Given the description of an element on the screen output the (x, y) to click on. 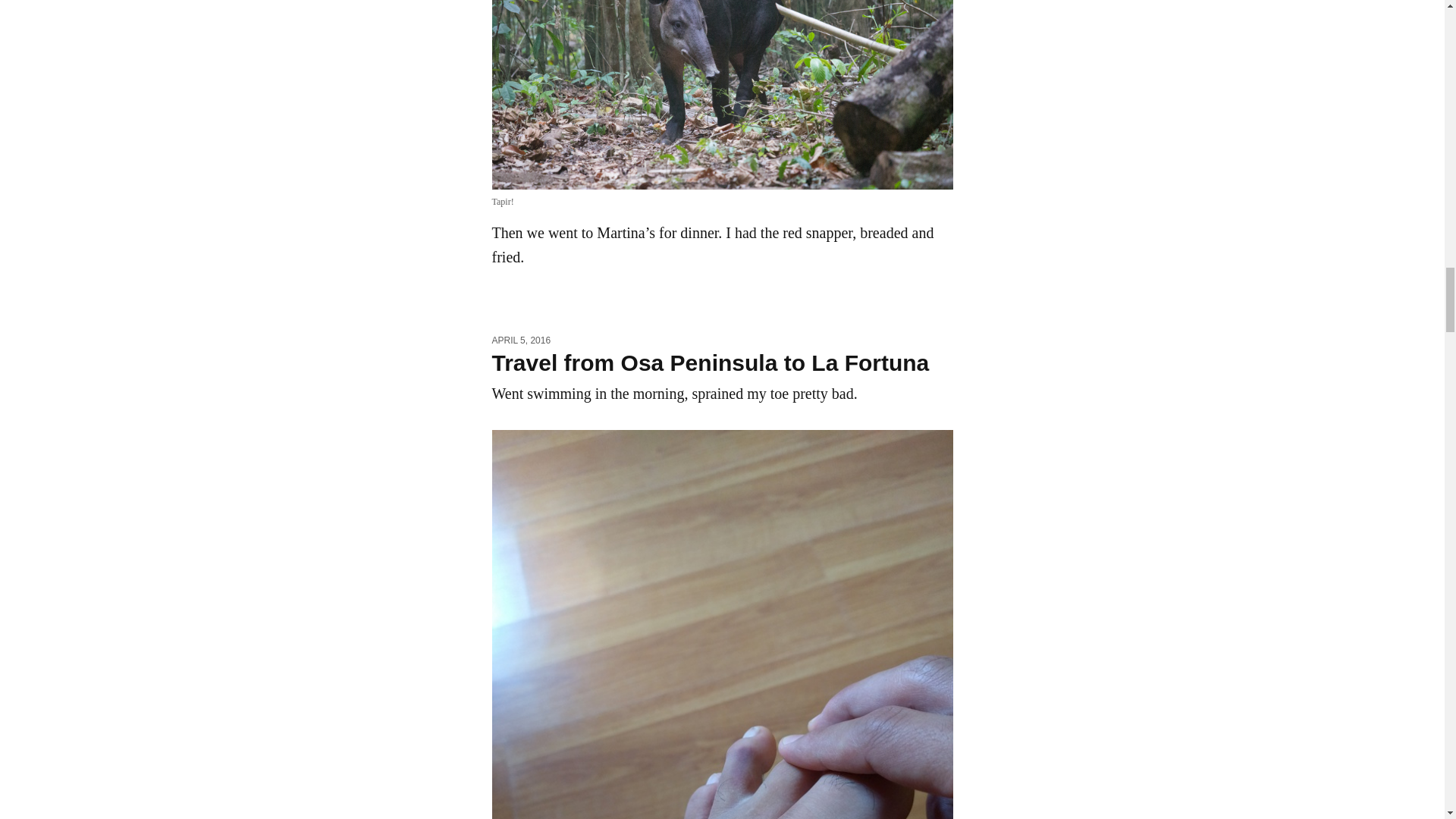
Travel from Osa Peninsula to La Fortuna (710, 362)
